Given the description of an element on the screen output the (x, y) to click on. 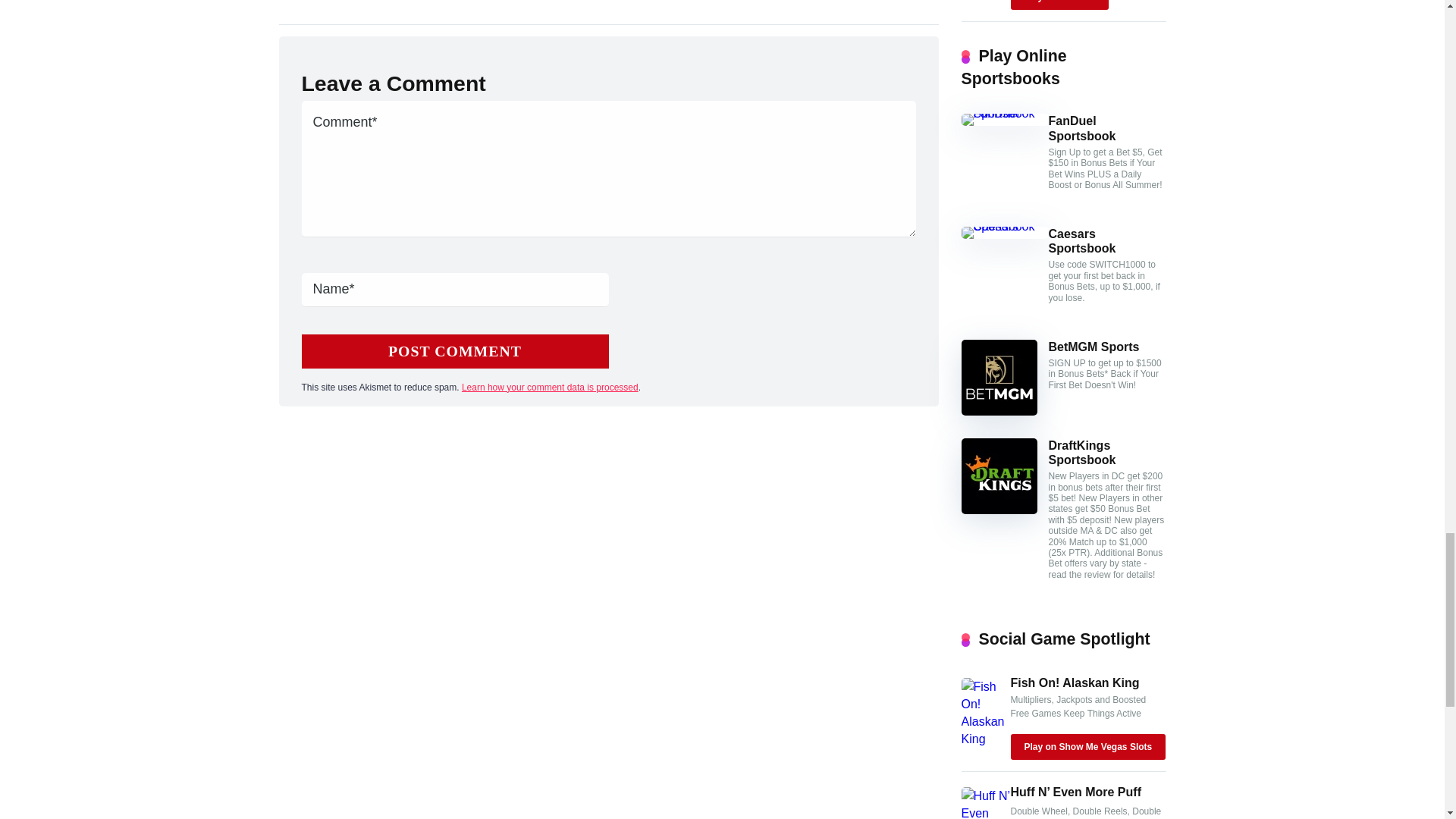
Post Comment (454, 351)
